Given the description of an element on the screen output the (x, y) to click on. 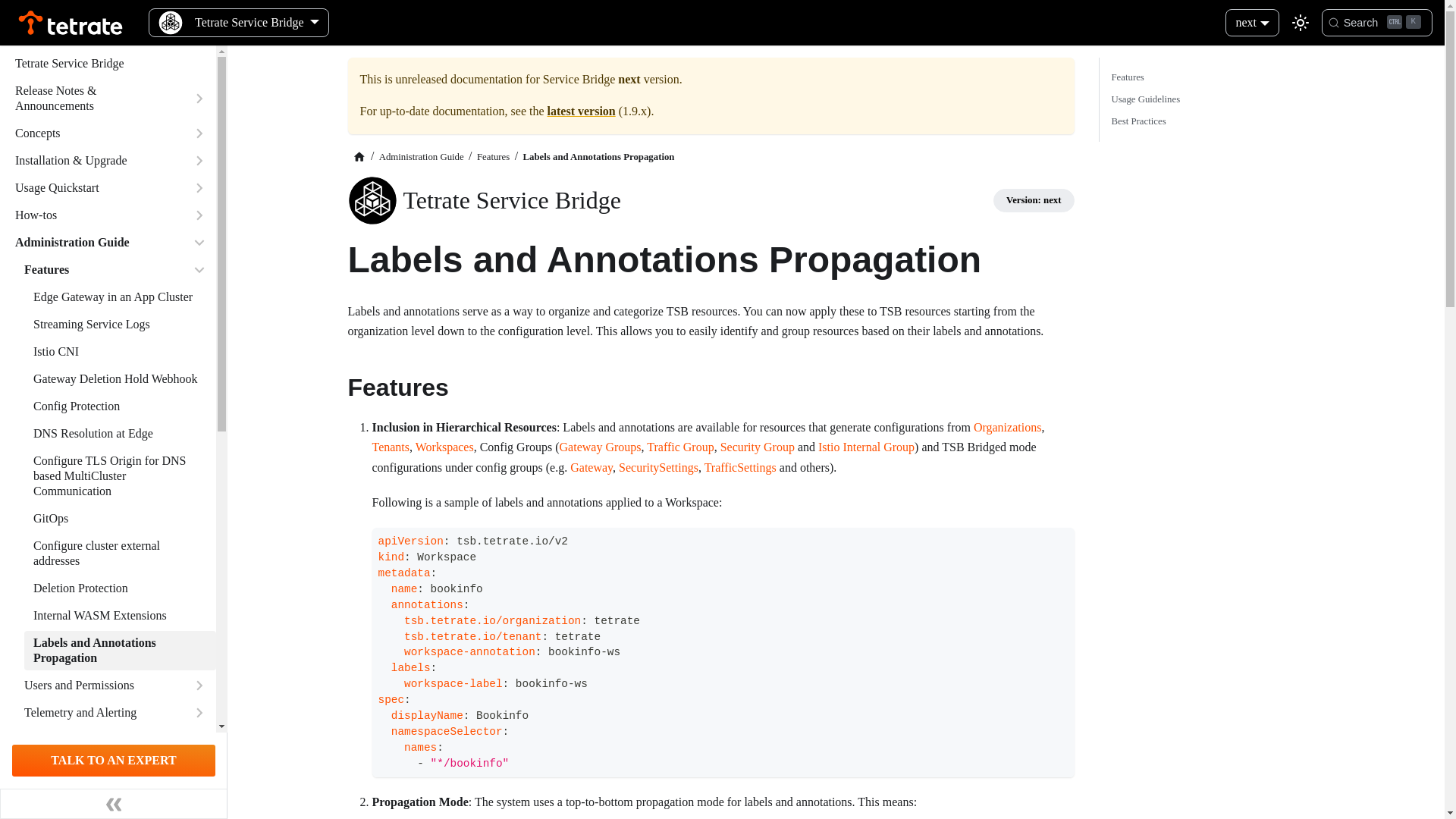
Edge Gateway in an App Cluster (119, 297)
Concepts (1210, 99)
Istio CNI (94, 133)
How-tos (119, 351)
Collapse sidebar (94, 215)
next (113, 803)
Tetrate Service Bridge (1251, 21)
Administration Guide (110, 63)
Features (94, 242)
Usage Quickstart (98, 269)
Gateway Deletion Hold Webhook (94, 187)
Streaming Service Logs (119, 378)
